Given the description of an element on the screen output the (x, y) to click on. 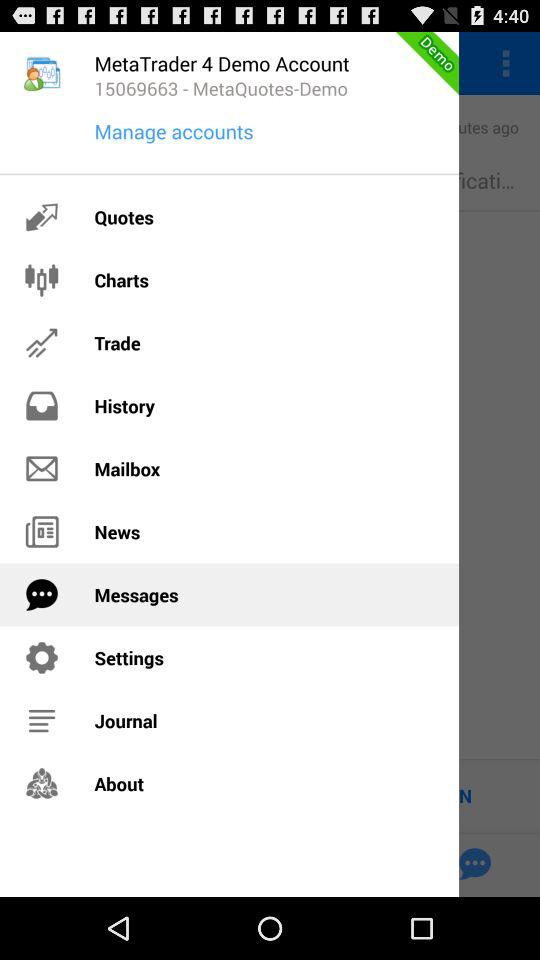
select the demo option which is highlighted in green colour (437, 62)
